Given the description of an element on the screen output the (x, y) to click on. 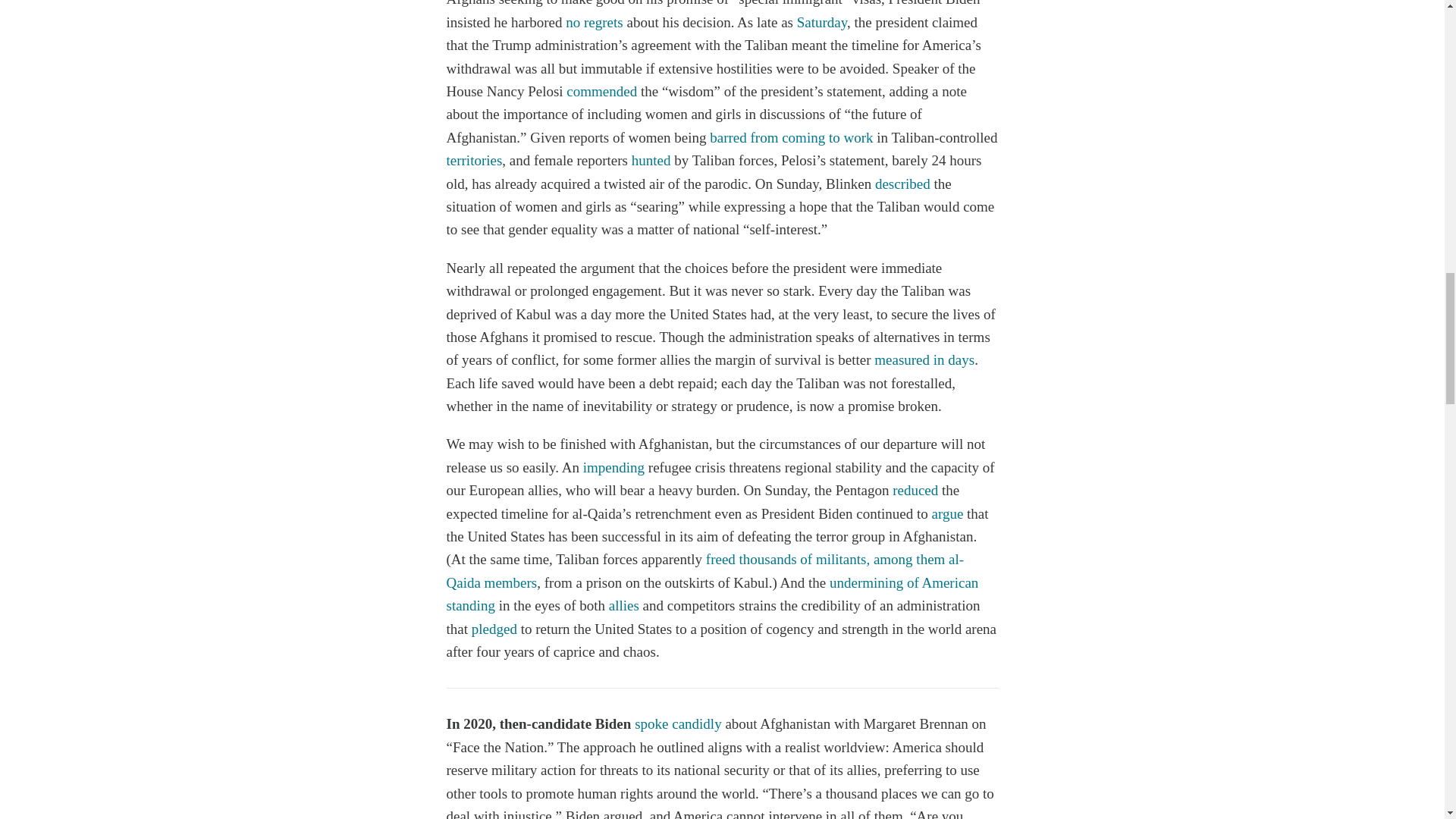
hunted (651, 160)
territories (473, 160)
described (902, 183)
barred from coming to work (791, 137)
commended (601, 91)
measured in days (924, 359)
no regrets (594, 22)
Saturday (821, 22)
